Given the description of an element on the screen output the (x, y) to click on. 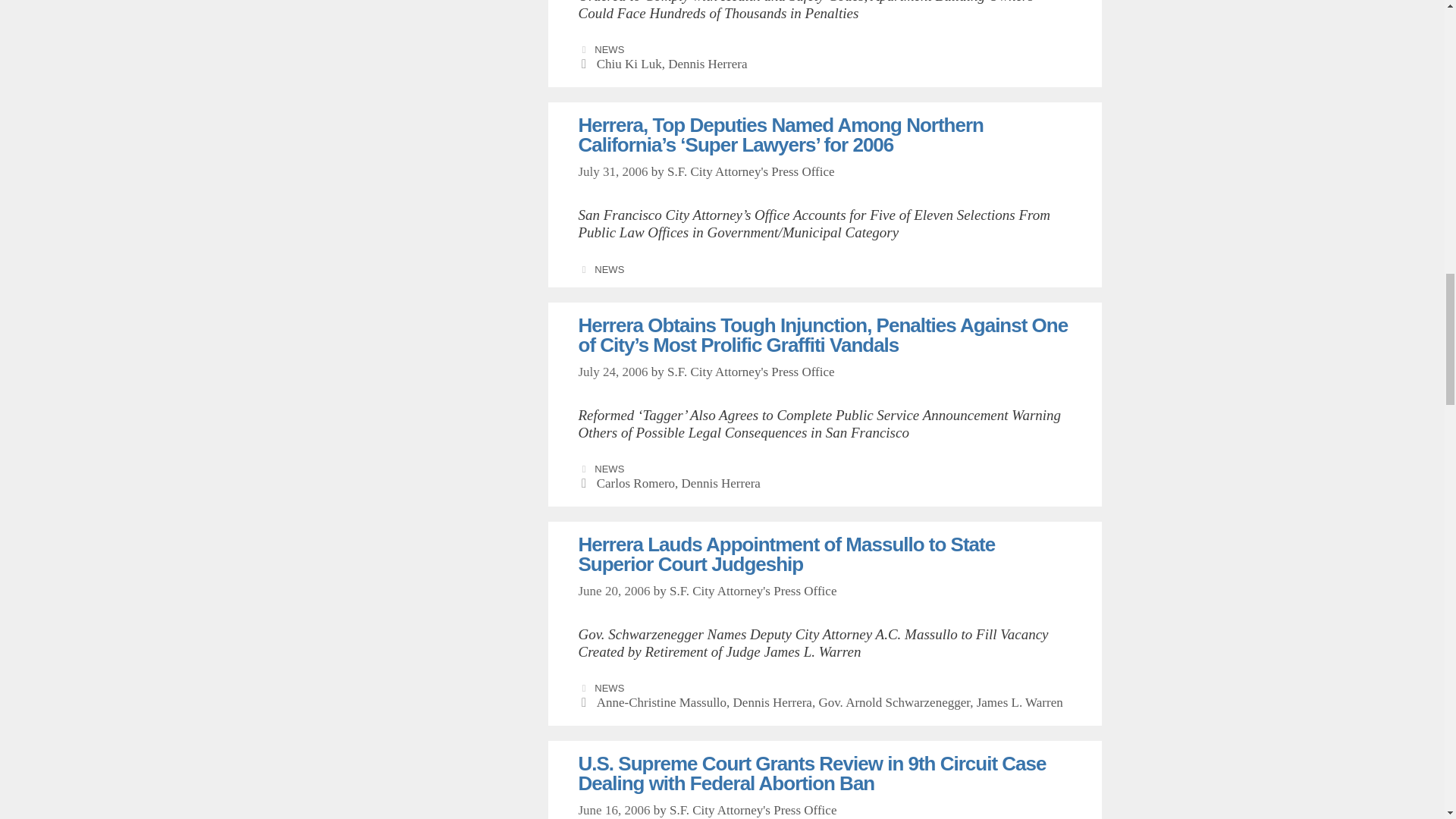
View all posts by S.F. City Attorney's Press Office (750, 371)
View all posts by S.F. City Attorney's Press Office (753, 810)
View all posts by S.F. City Attorney's Press Office (750, 171)
View all posts by S.F. City Attorney's Press Office (753, 590)
